Given the description of an element on the screen output the (x, y) to click on. 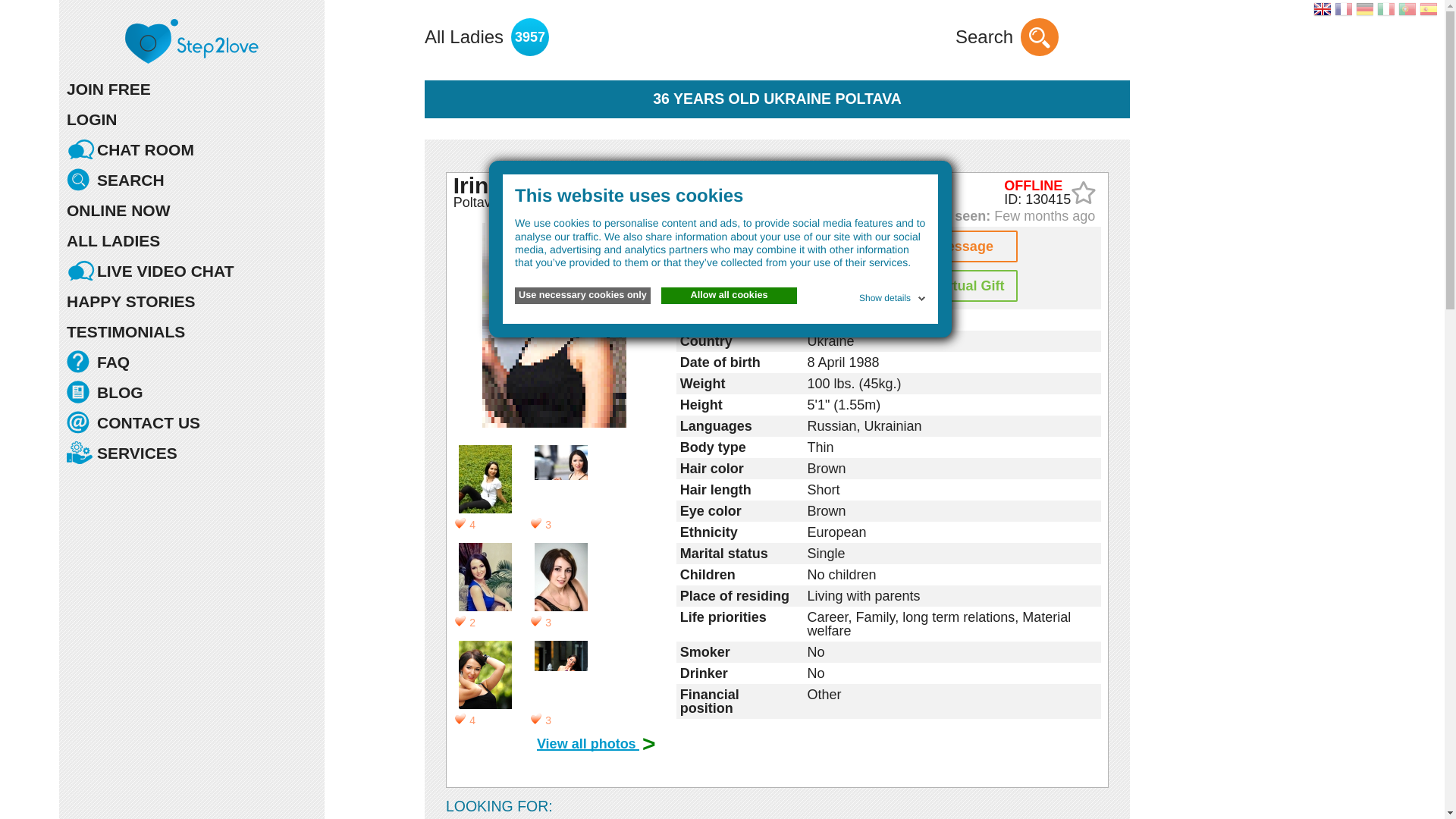
Show details (893, 295)
Allow all cookies (728, 295)
Use necessary cookies only (582, 295)
